Given the description of an element on the screen output the (x, y) to click on. 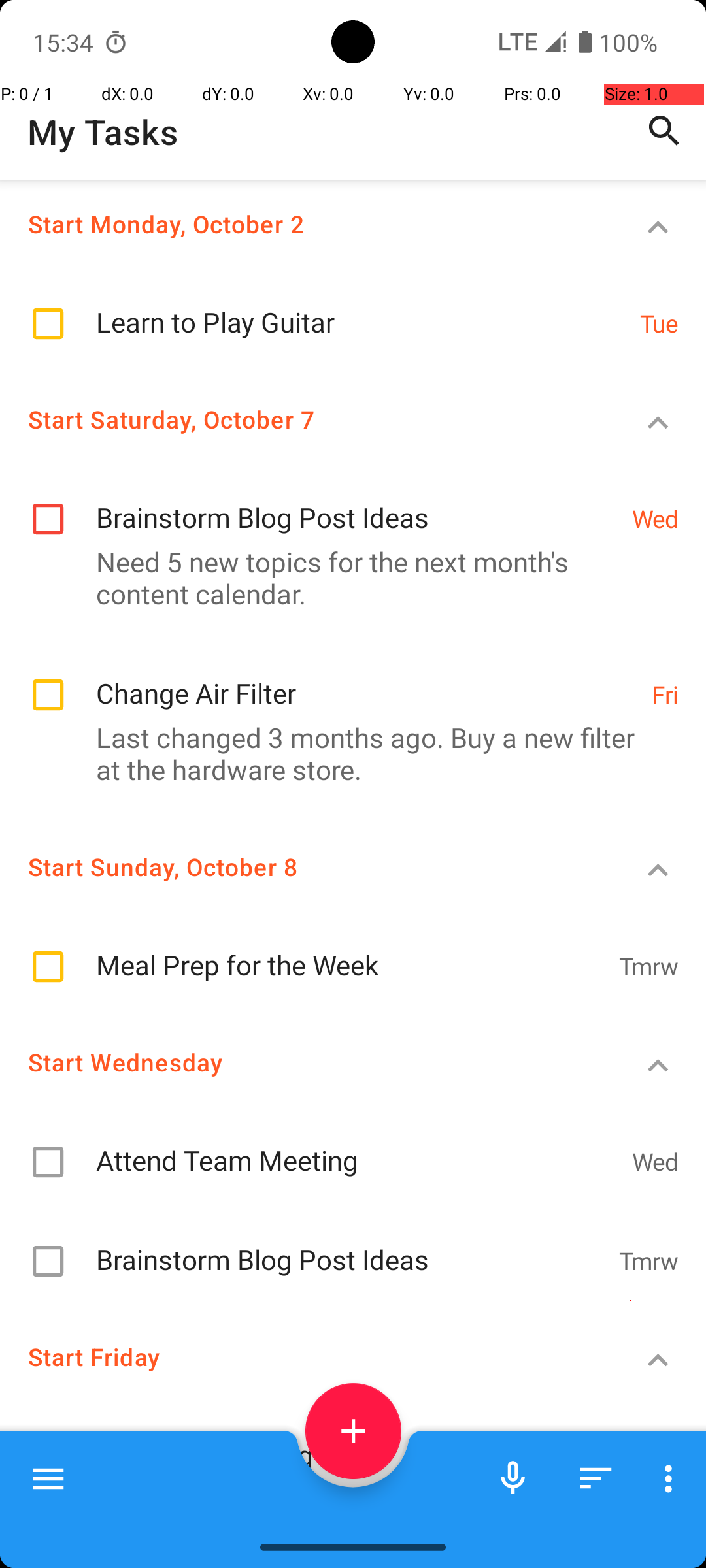
Start Monday, October 2 Element type: android.widget.TextView (304, 223)
Start Saturday, October 7 Element type: android.widget.TextView (304, 419)
Start Sunday, October 8 Element type: android.widget.TextView (304, 866)
Start Wednesday Element type: android.widget.TextView (304, 1061)
Start Friday Element type: android.widget.TextView (304, 1356)
Start yesterday Element type: android.widget.TextView (304, 1516)
Need 5 new topics for the next month's content calendar. Element type: android.widget.TextView (346, 577)
